Given the description of an element on the screen output the (x, y) to click on. 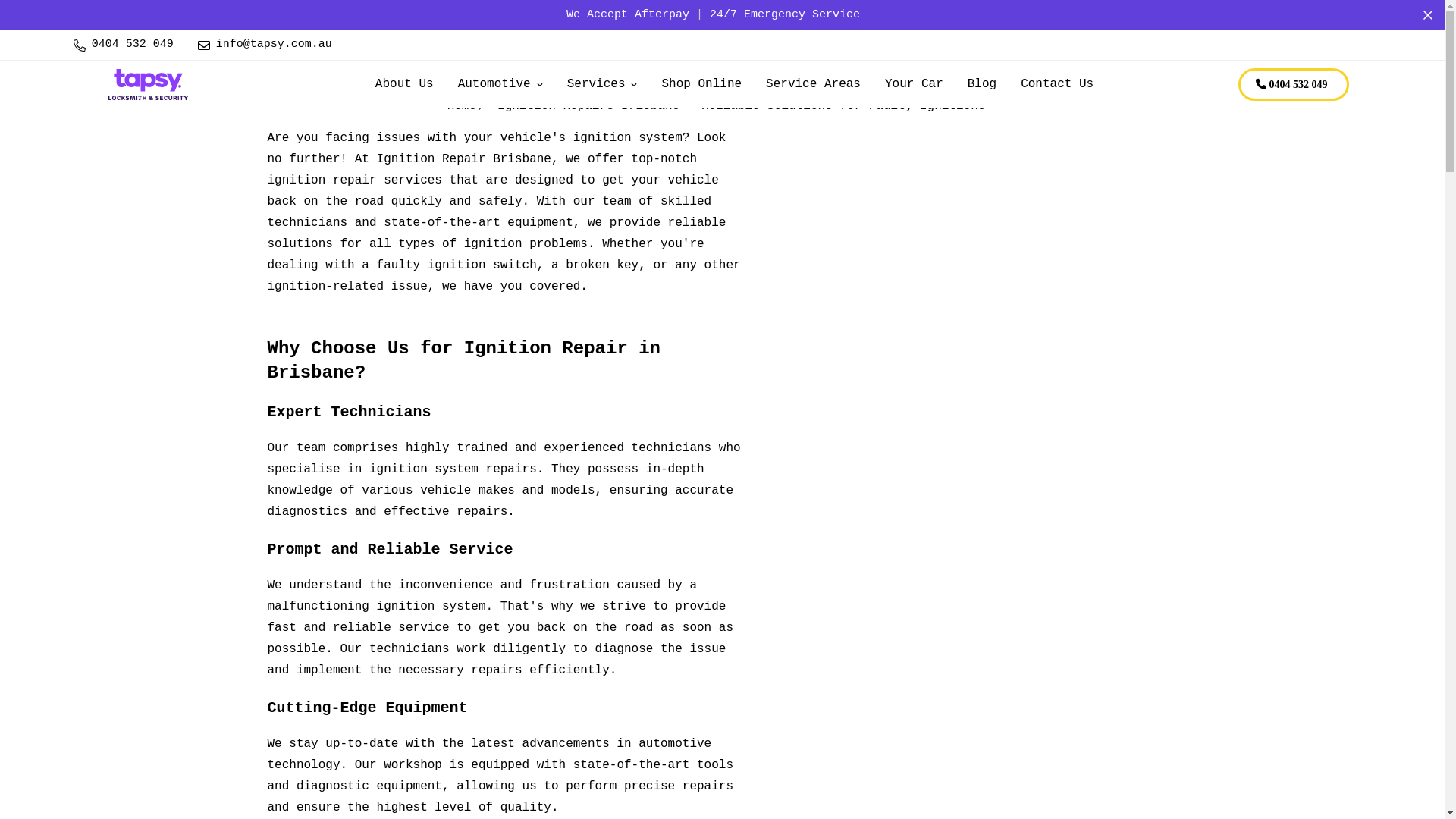
Shop Online Element type: text (701, 84)
Blog Element type: text (981, 84)
Home Element type: text (461, 106)
info@tapsy.com.au Element type: text (264, 44)
Automotive Element type: text (500, 84)
Emergency Locksmith Brisbane Element type: hover (147, 84)
Service Areas Element type: text (812, 84)
Contact Us Element type: text (1056, 84)
Your Car Element type: text (913, 84)
0404 532 049 Element type: text (123, 44)
Services Element type: text (602, 84)
About Us Element type: text (404, 84)
0404 532 049 Element type: text (1293, 84)
